Given the description of an element on the screen output the (x, y) to click on. 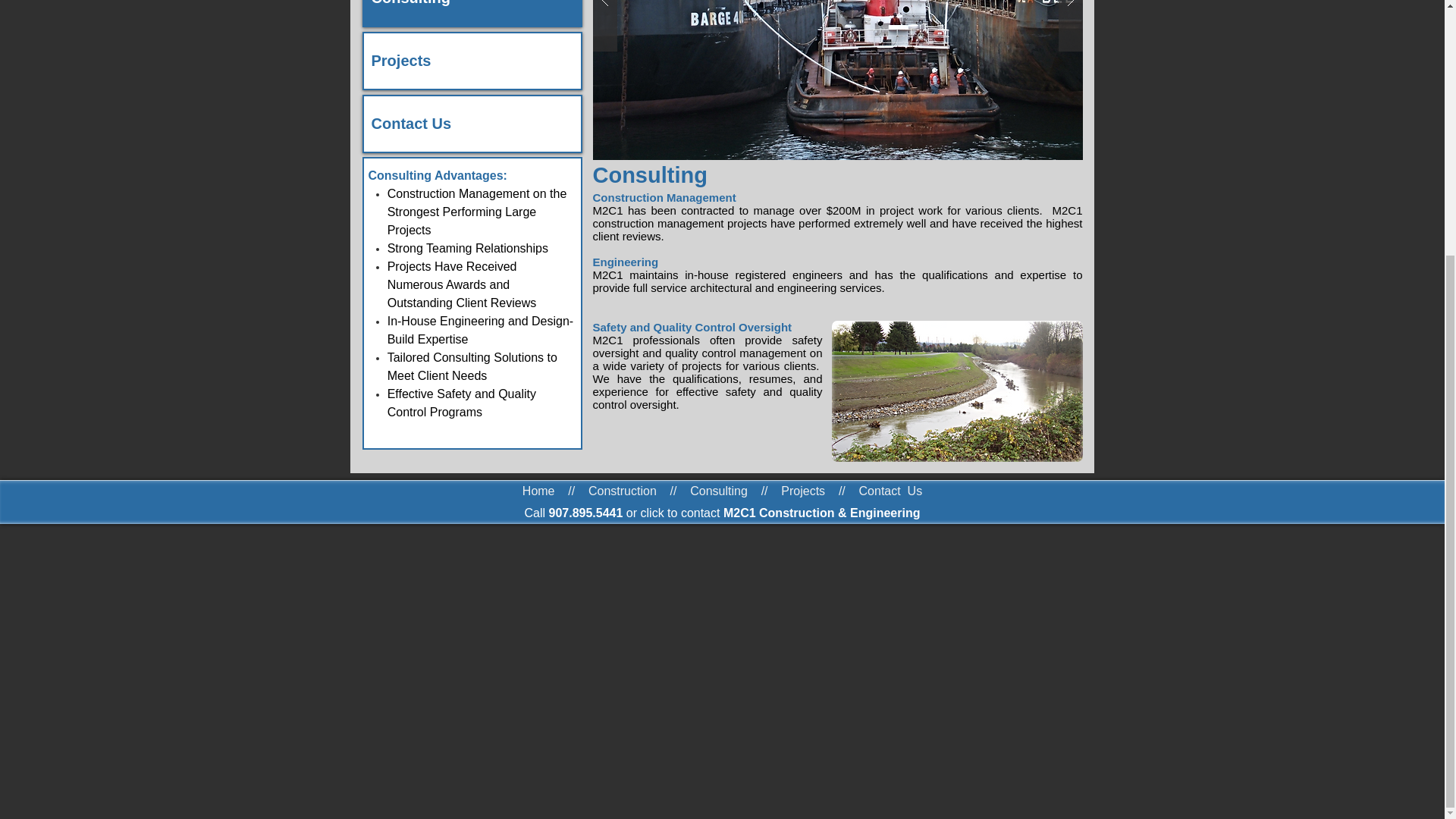
Construction (622, 490)
Projects (802, 490)
Contact Us (472, 123)
Projects (472, 60)
Contact  Us (891, 490)
Consulting (472, 12)
Consulting (719, 490)
Home (538, 490)
